Given the description of an element on the screen output the (x, y) to click on. 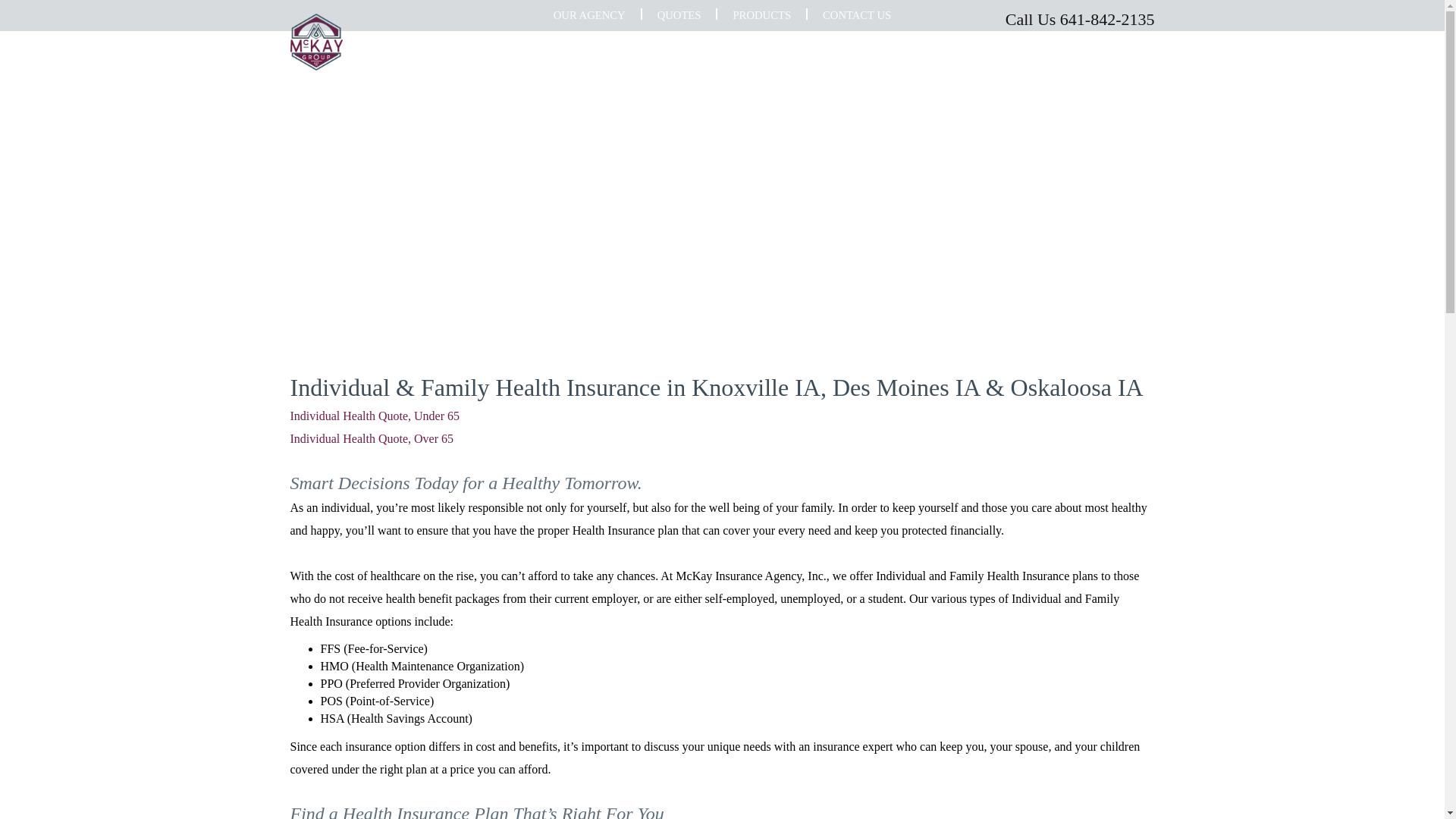
QUOTES (679, 15)
Call Us 641-842-2135 (943, 19)
PRODUCTS (761, 15)
OUR AGENCY (589, 15)
CONTACT US (856, 15)
